Given the description of an element on the screen output the (x, y) to click on. 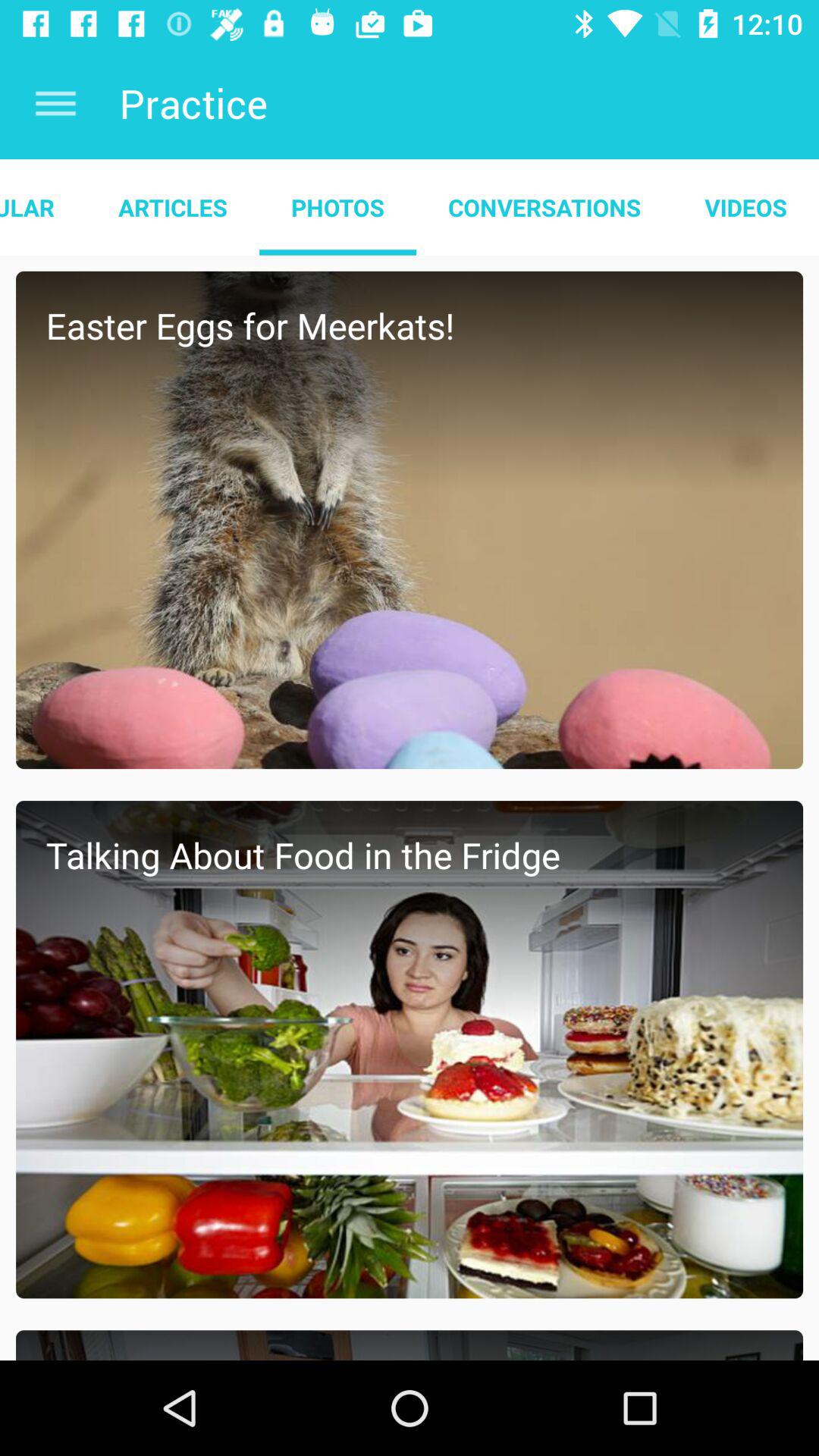
swipe until the videos icon (745, 207)
